Given the description of an element on the screen output the (x, y) to click on. 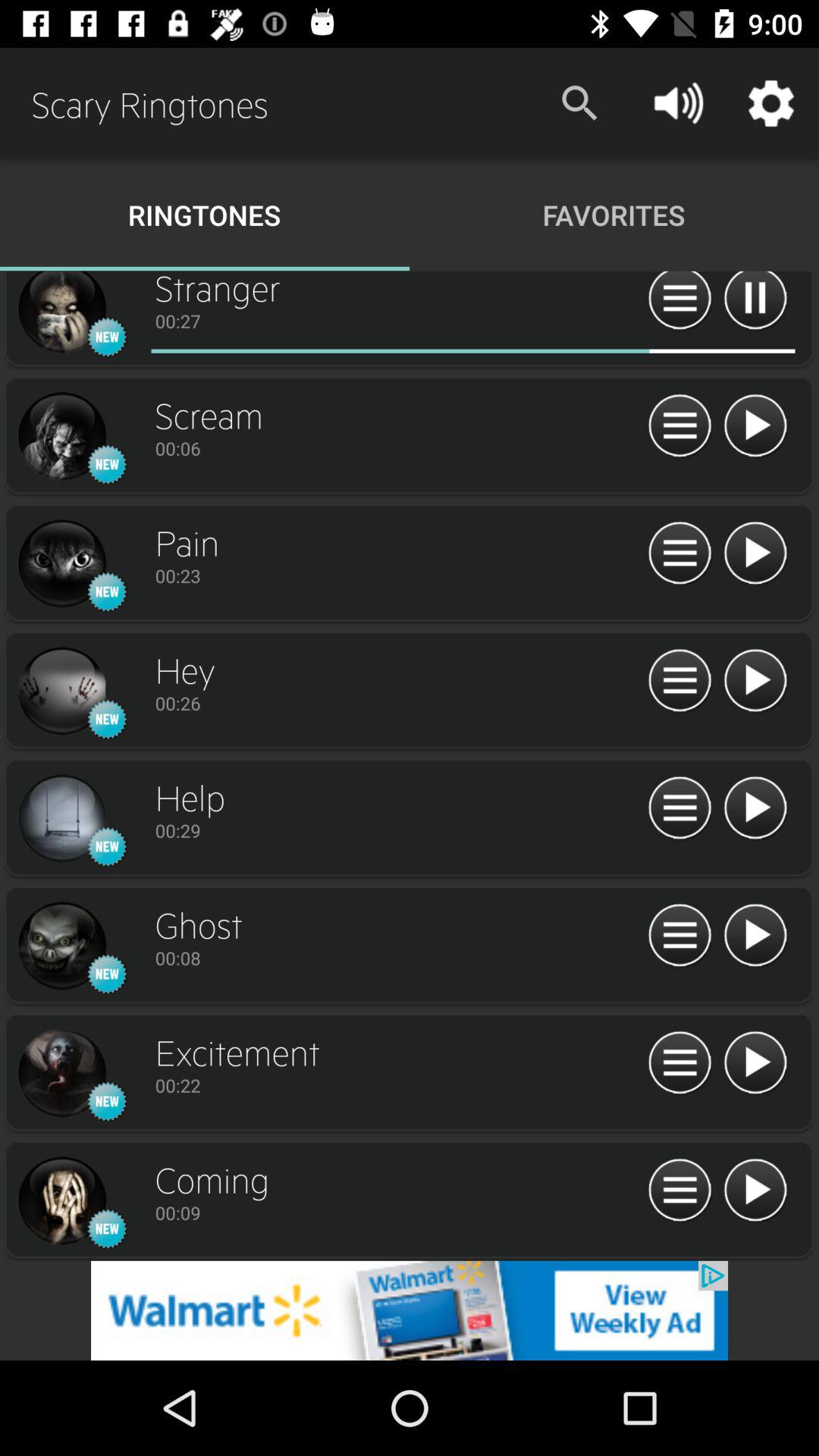
play the suggested song (755, 681)
